Given the description of an element on the screen output the (x, y) to click on. 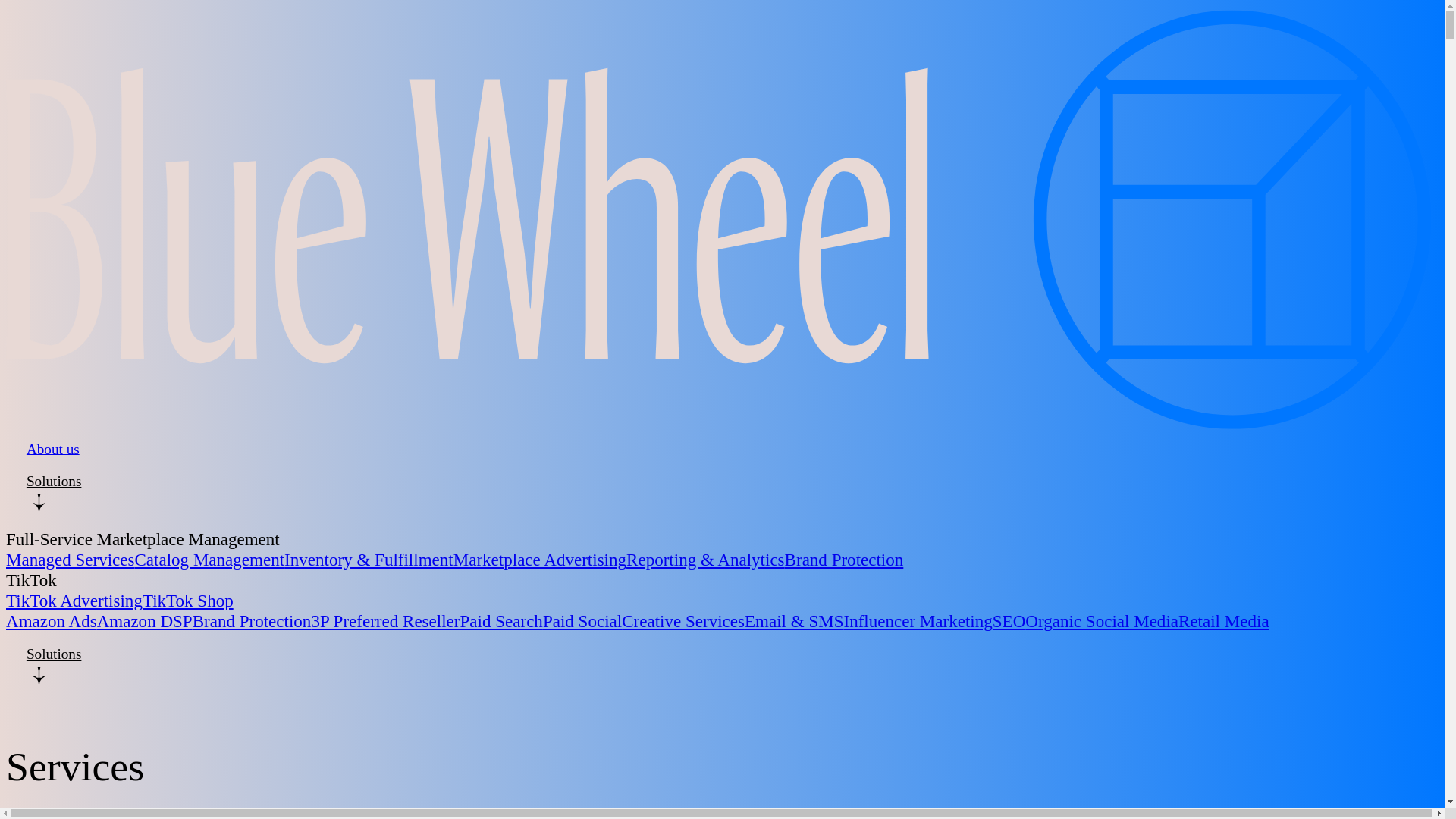
Solutions (722, 654)
Brand Protection (844, 559)
About us (53, 455)
Influencer Marketing (917, 620)
TikTok Advertising (73, 600)
Paid Social (582, 620)
Creative Services (682, 620)
Managed Services (69, 559)
Retail Media (1223, 620)
Catalog Management (208, 559)
Paid Search (500, 620)
Solutions (722, 481)
Brand Protection (251, 620)
TikTok Shop (187, 600)
Organic Social Media (1101, 620)
